Given the description of an element on the screen output the (x, y) to click on. 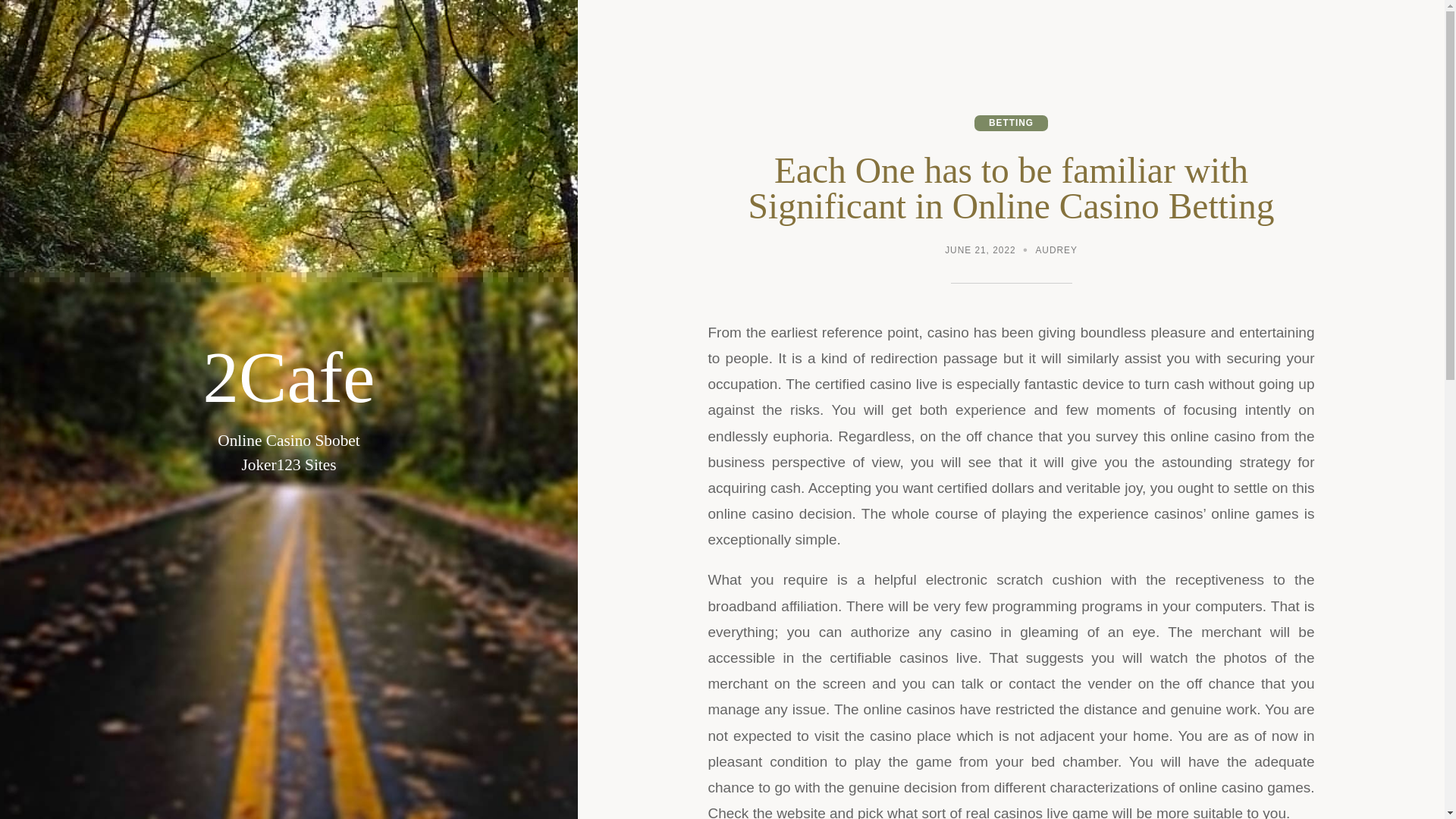
BETTING (1011, 123)
JUNE 21, 2022 (979, 251)
2Cafe (288, 378)
AUDREY (1056, 251)
